Given the description of an element on the screen output the (x, y) to click on. 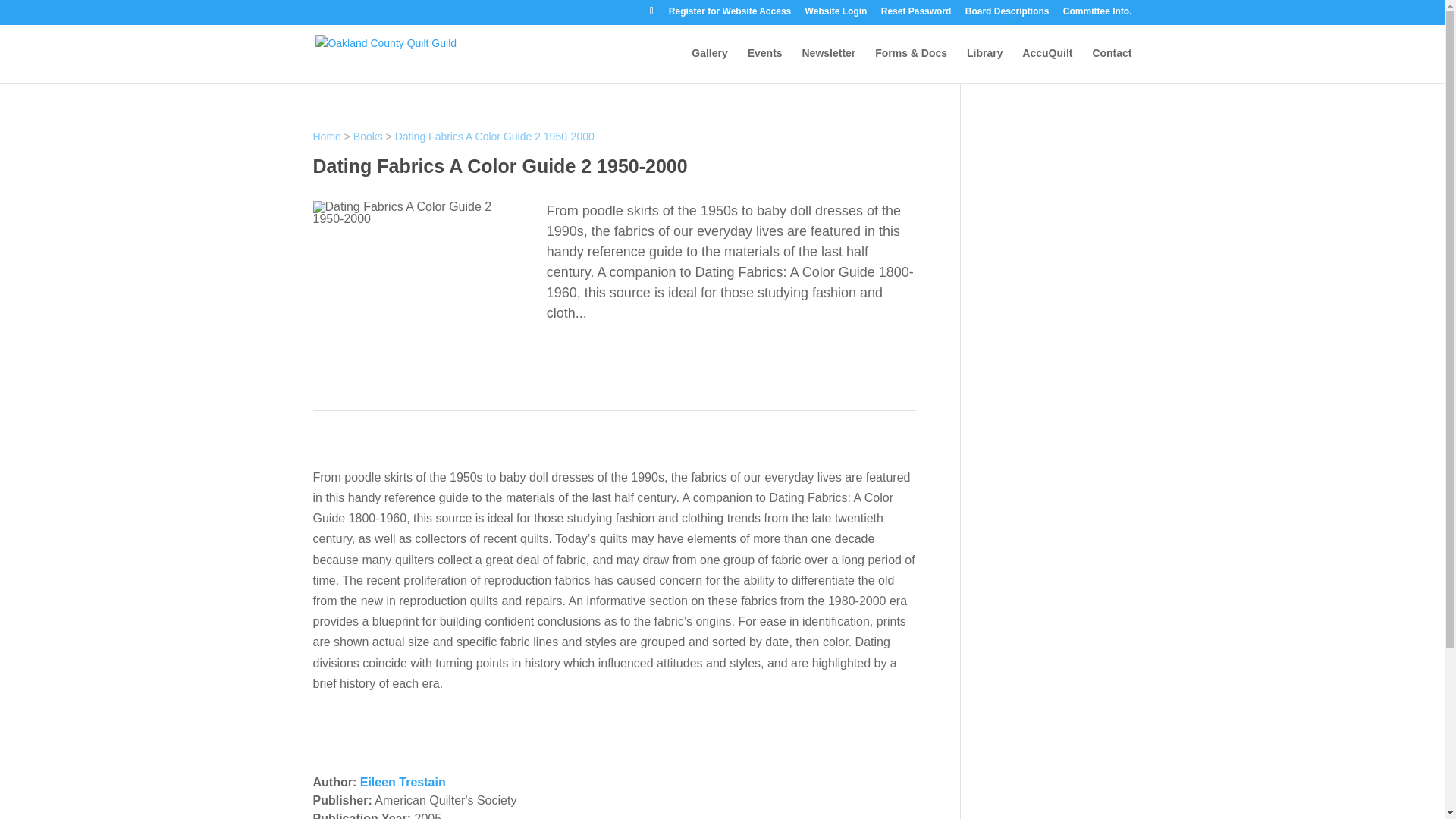
Board Descriptions (1007, 14)
Website Login (836, 14)
Library (984, 65)
Committee Info. (1097, 14)
Contact (1111, 65)
Books (367, 136)
AccuQuilt (1046, 65)
Events (765, 65)
Gallery (708, 65)
Reset Password (916, 14)
Dating Fabrics A Color Guide 2 1950-2000 (494, 136)
Register for Website Access (729, 14)
Home (326, 136)
Newsletter (829, 65)
Eileen Trestain (402, 781)
